Given the description of an element on the screen output the (x, y) to click on. 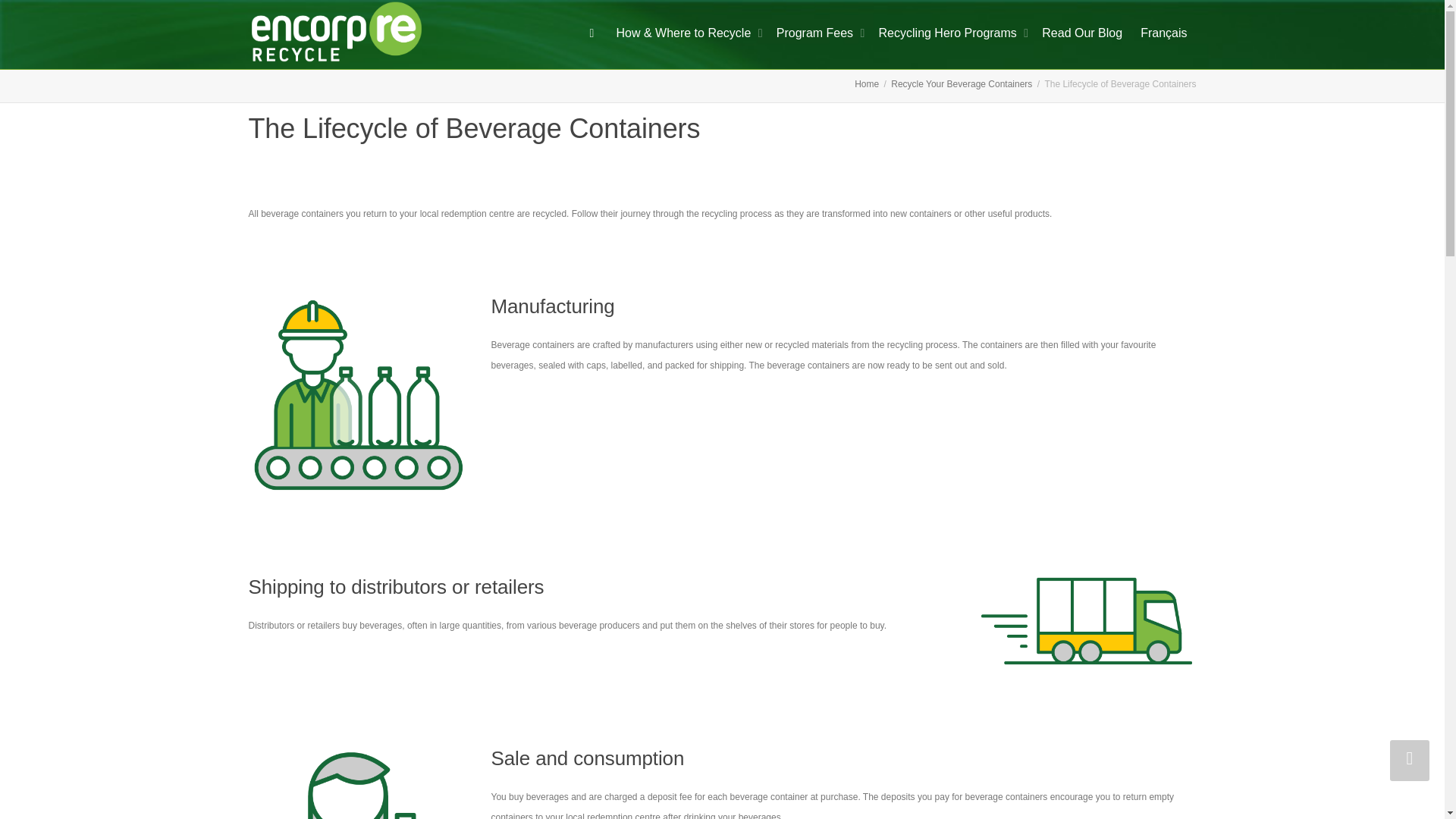
Recycle Your Beverage Containers (961, 83)
Program Fees (818, 33)
Read Our Blog (1082, 33)
Program Fees (818, 33)
Recycling Hero Programs (952, 33)
Home (866, 83)
Recycling Hero Programs (952, 33)
